Given the description of an element on the screen output the (x, y) to click on. 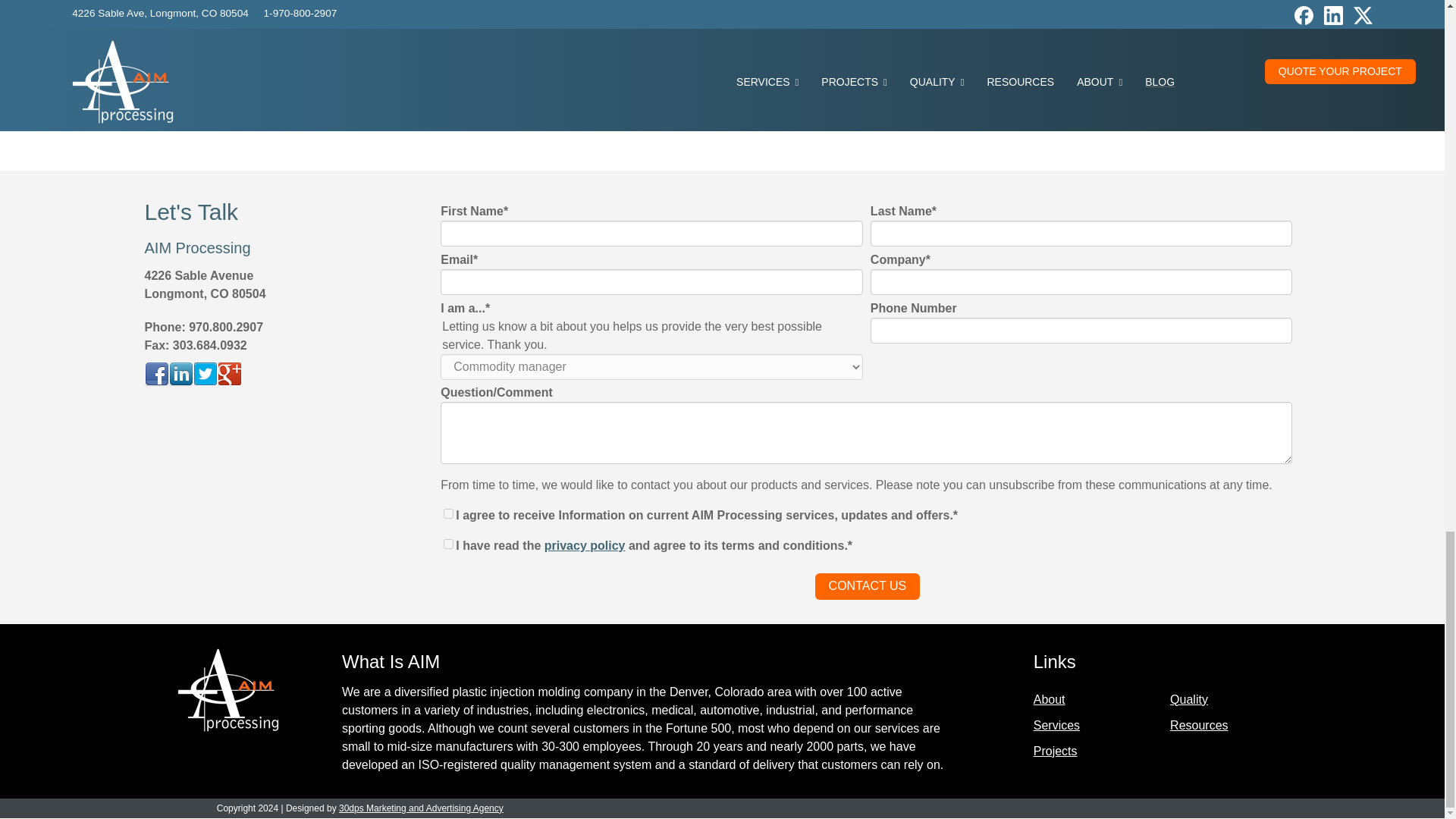
Jon Gelston (506, 30)
true (448, 513)
true (448, 543)
Follow us on Twitter (204, 374)
Contact Us (867, 586)
AIM Logo (228, 690)
Follow us on Linkedin (180, 374)
Follow us on Facebook (156, 374)
